Given the description of an element on the screen output the (x, y) to click on. 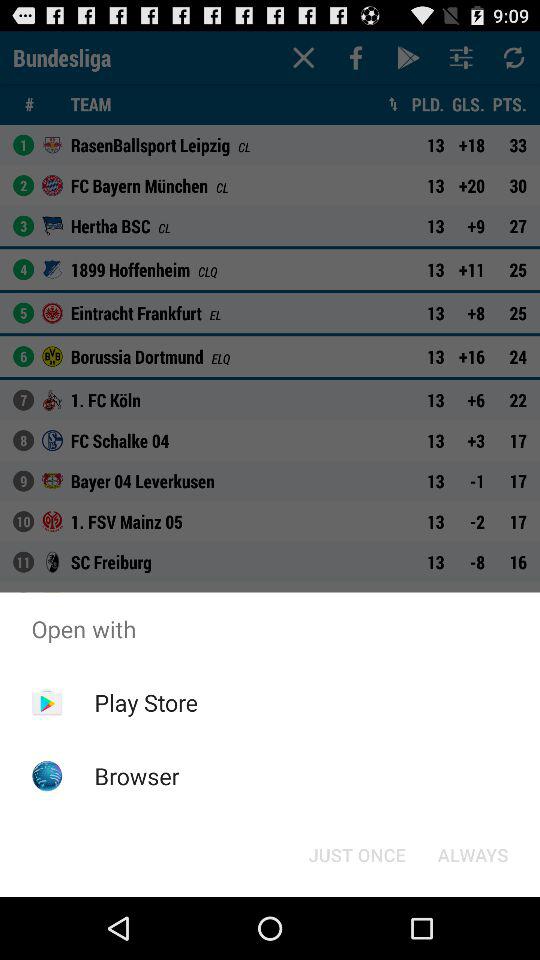
launch play store icon (146, 702)
